Given the description of an element on the screen output the (x, y) to click on. 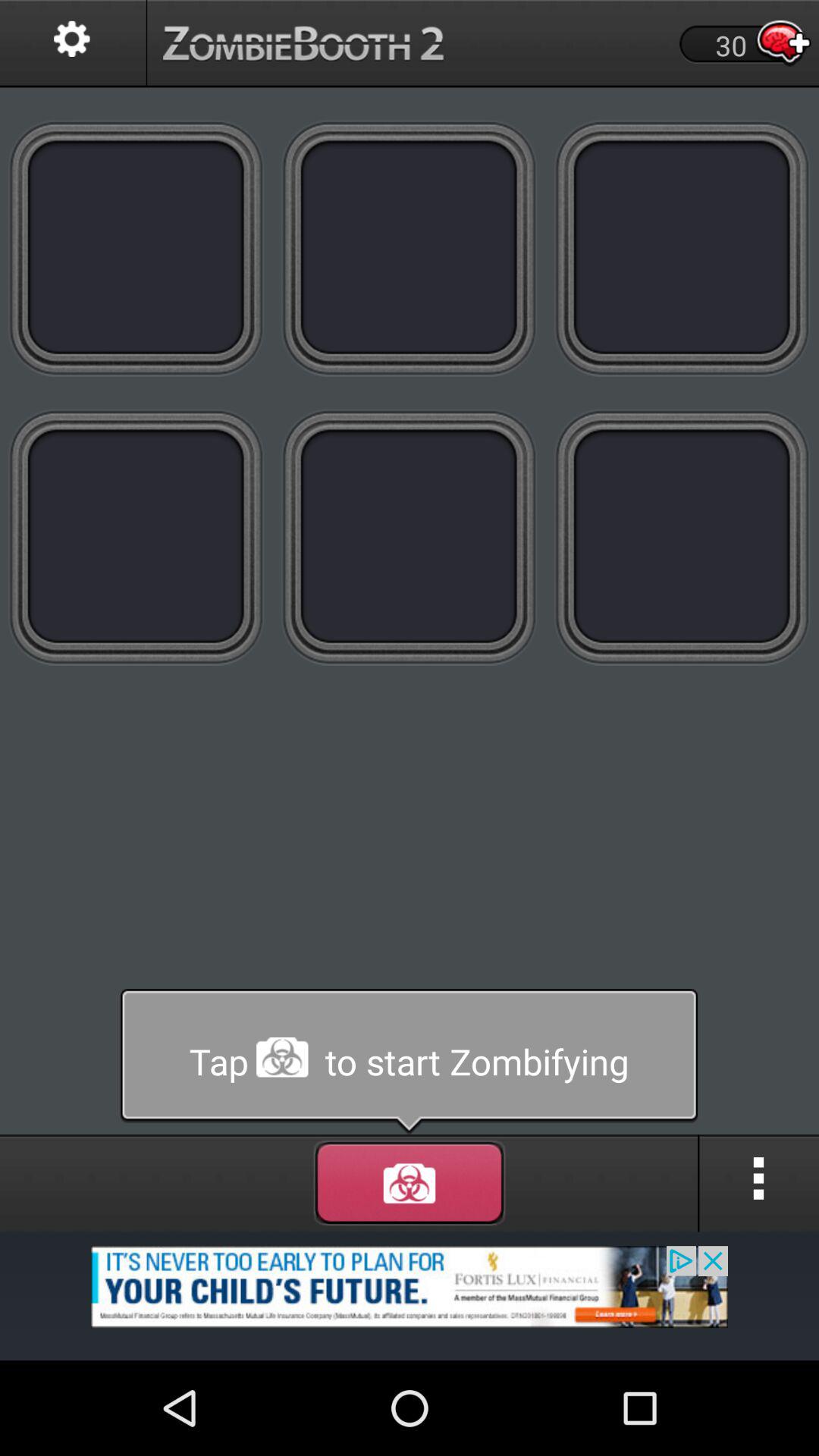
adiveristment (409, 1295)
